Given the description of an element on the screen output the (x, y) to click on. 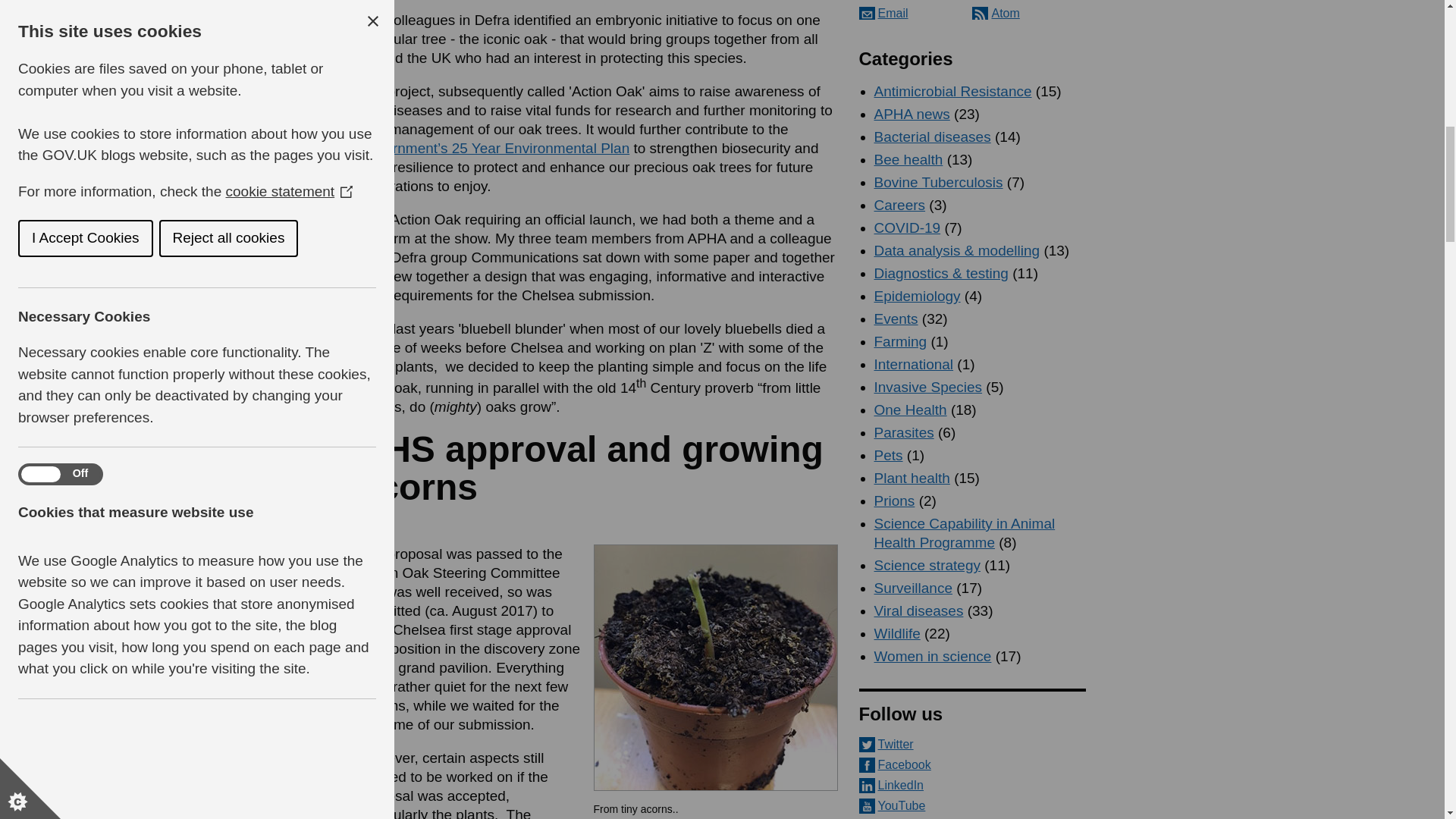
Email (883, 12)
Atom (995, 12)
Antimicrobial Resistance (951, 91)
